Given the description of an element on the screen output the (x, y) to click on. 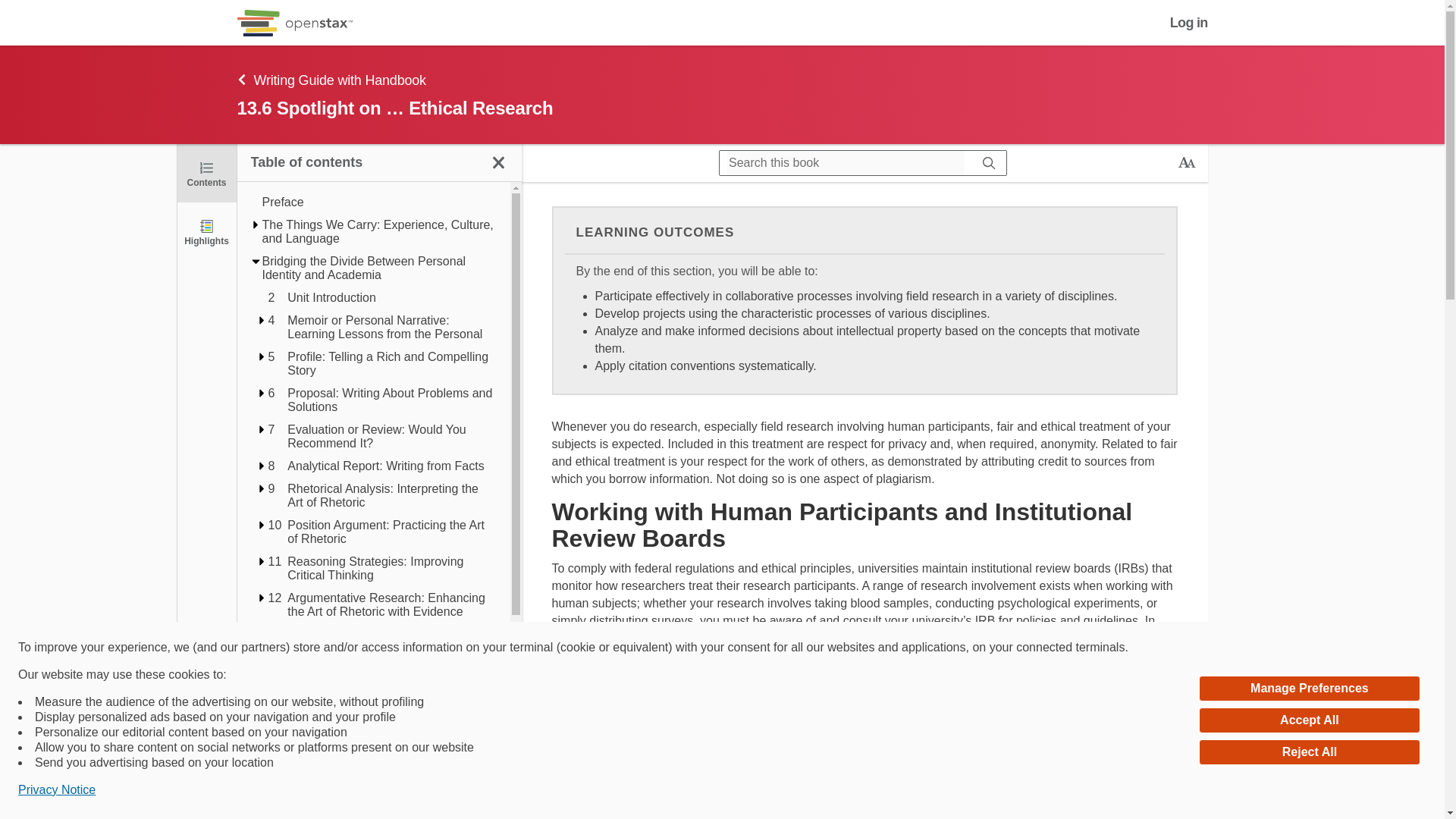
Writing Guide with Handbook (635, 78)
Log in (1189, 22)
Manage Preferences (1309, 688)
Reject All (1309, 751)
Accept All (1309, 720)
Search (989, 162)
Preface (379, 202)
Privacy Notice (56, 789)
Contents (206, 173)
